Given the description of an element on the screen output the (x, y) to click on. 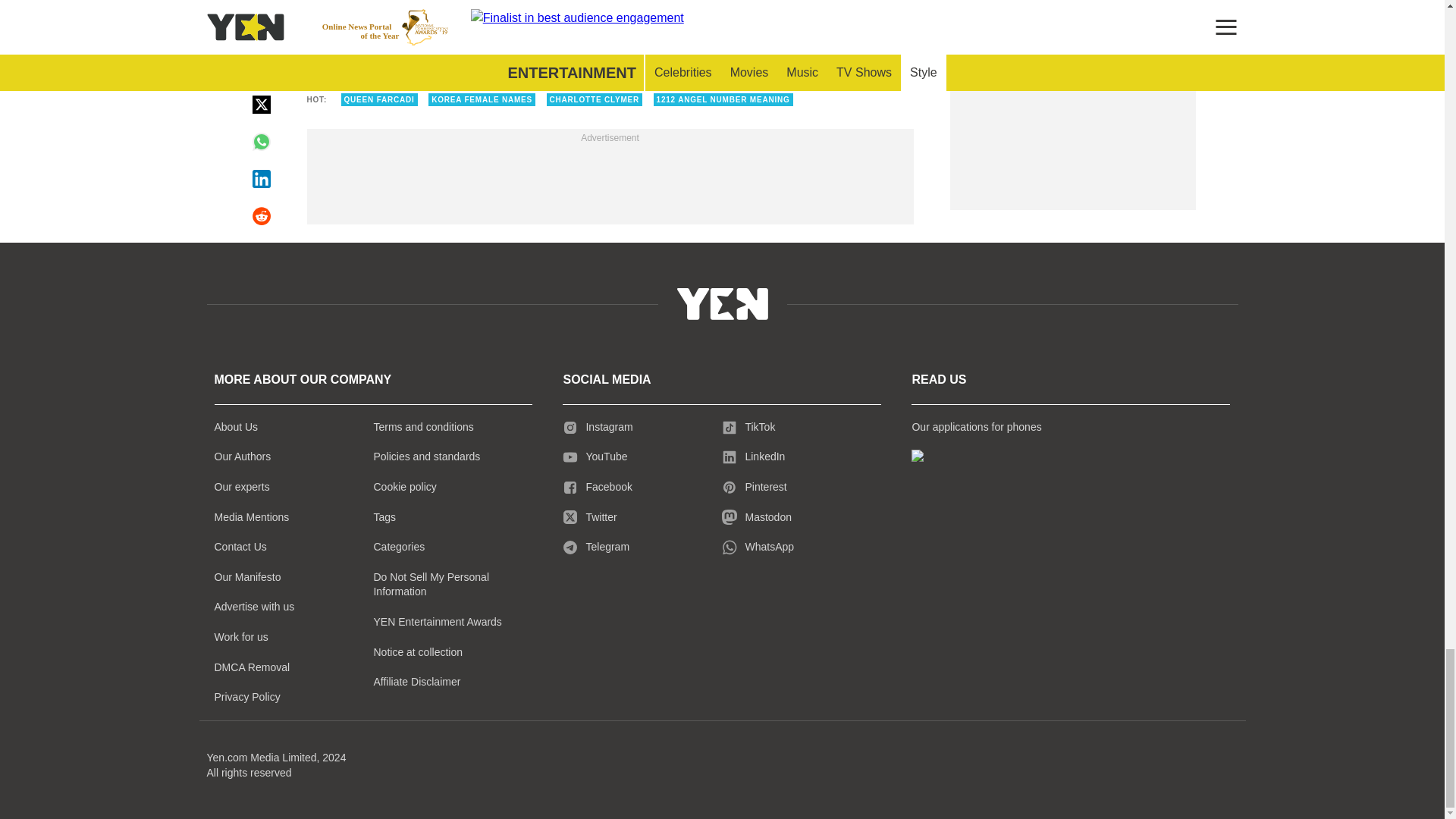
Author page (533, 21)
